Given the description of an element on the screen output the (x, y) to click on. 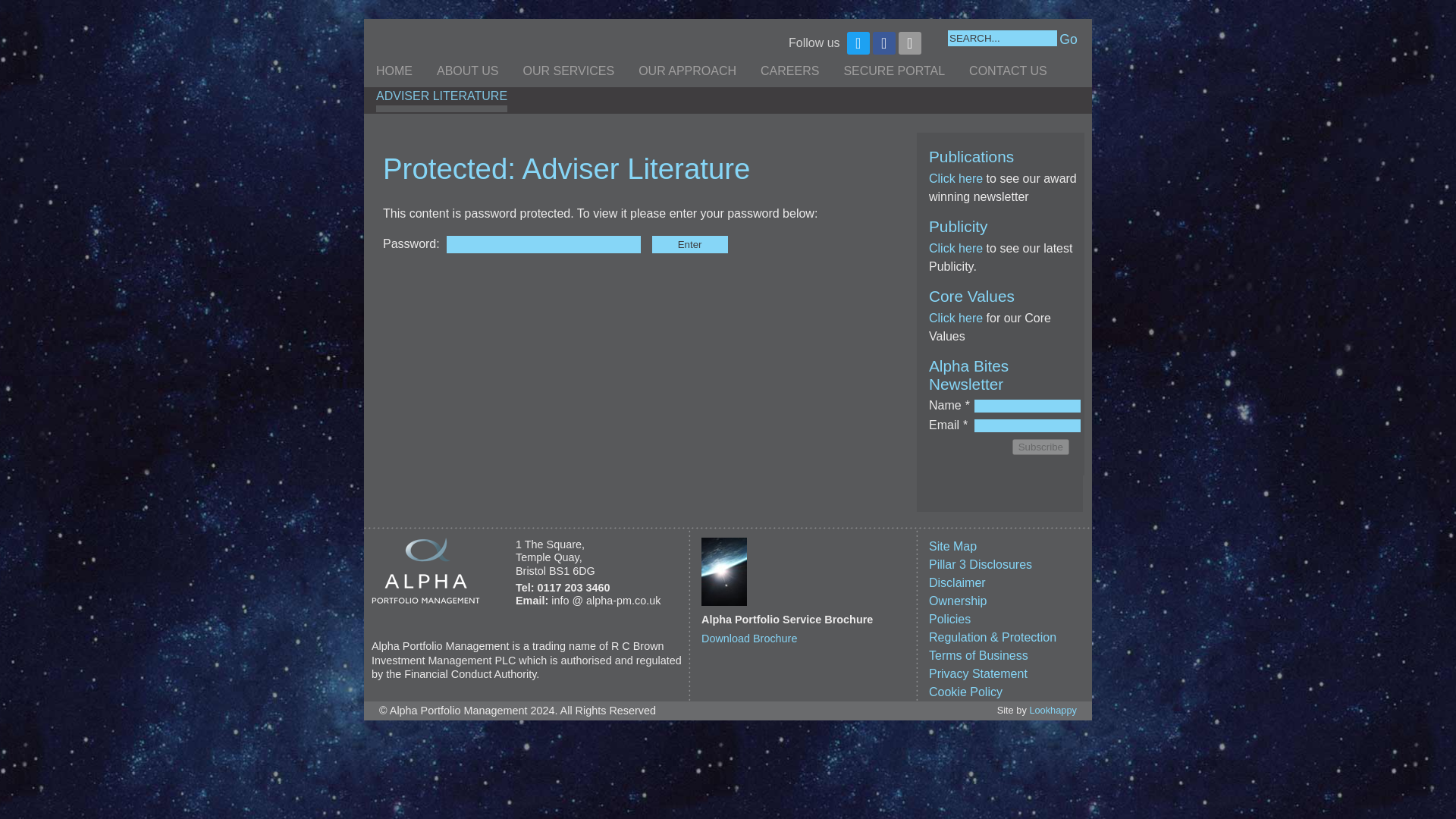
OUR SERVICES (568, 74)
Enter (690, 244)
Click here (955, 178)
LinkedIn (909, 42)
Publicity (955, 247)
Download Brochure (748, 638)
SEARCH... (1002, 37)
CONTACT US (1007, 74)
Click here (955, 318)
ABOUT US (467, 74)
